Given the description of an element on the screen output the (x, y) to click on. 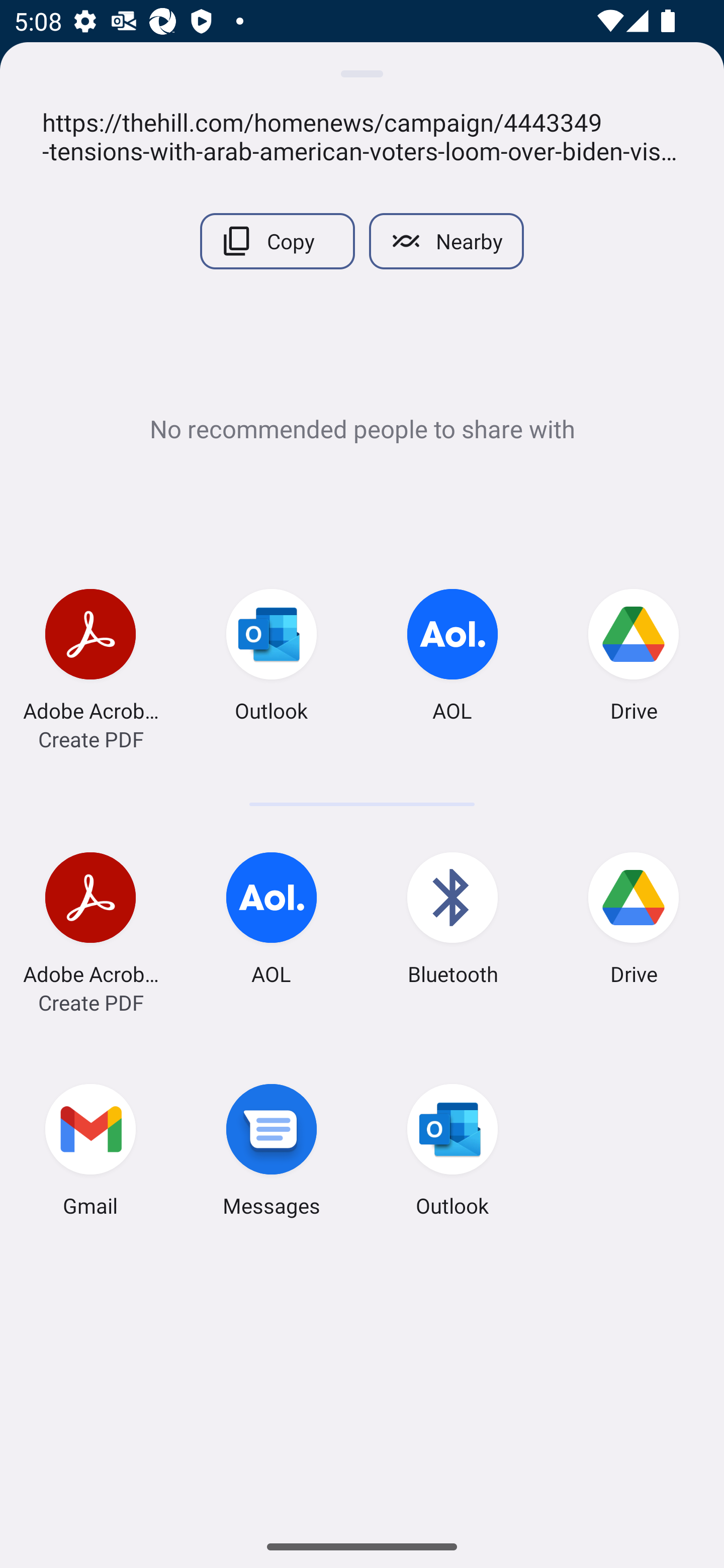
Copy (276, 241)
Nearby (446, 241)
Adobe Acrobat Create PDF (90, 658)
Outlook (271, 658)
AOL (452, 658)
Drive (633, 658)
Adobe Acrobat Create PDF (90, 921)
AOL (271, 921)
Bluetooth (452, 921)
Drive (633, 921)
Gmail (90, 1154)
Messages (271, 1154)
Outlook (452, 1154)
